Given the description of an element on the screen output the (x, y) to click on. 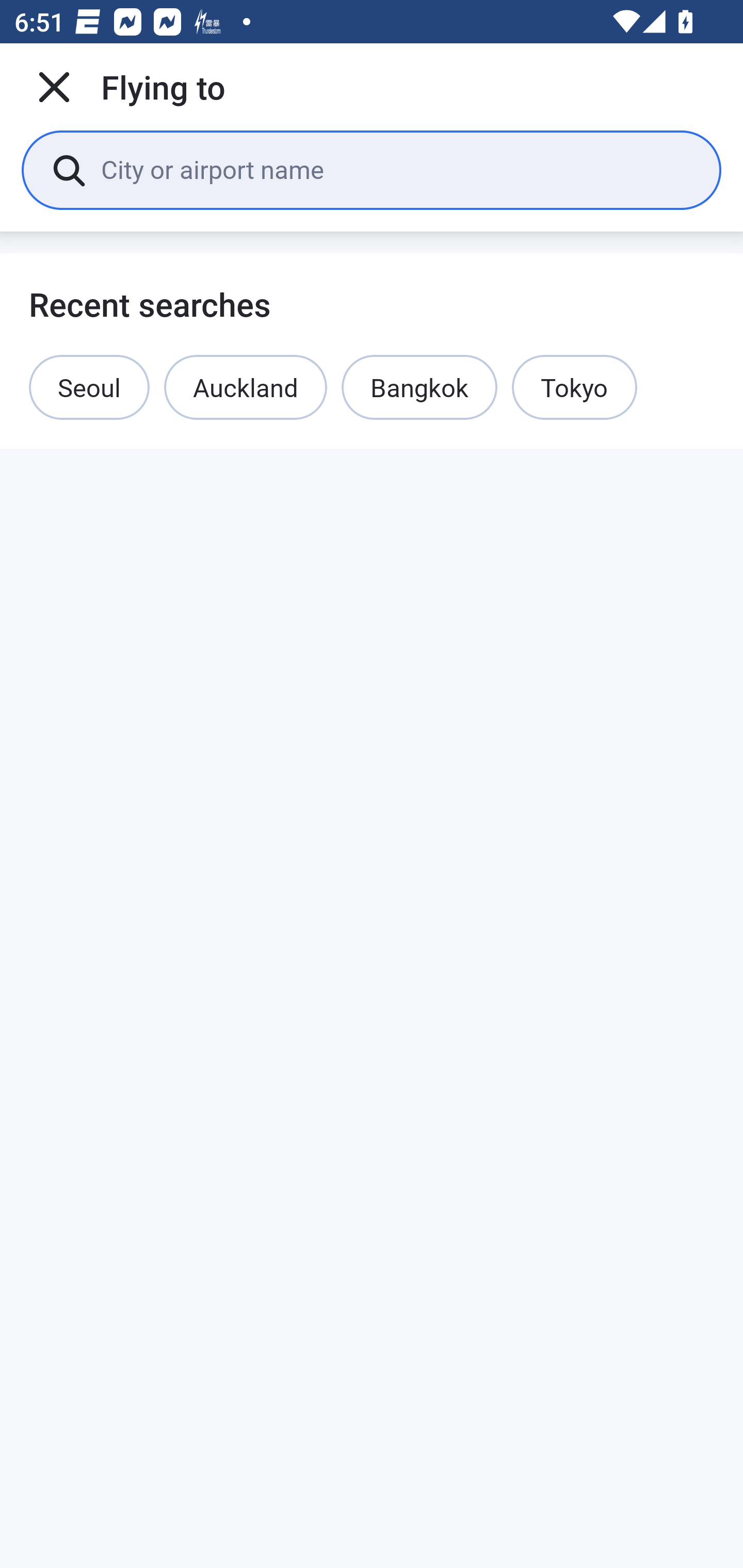
City or airport name (396, 169)
Seoul (88, 387)
Auckland (245, 387)
Bangkok (419, 387)
Tokyo (574, 387)
